Given the description of an element on the screen output the (x, y) to click on. 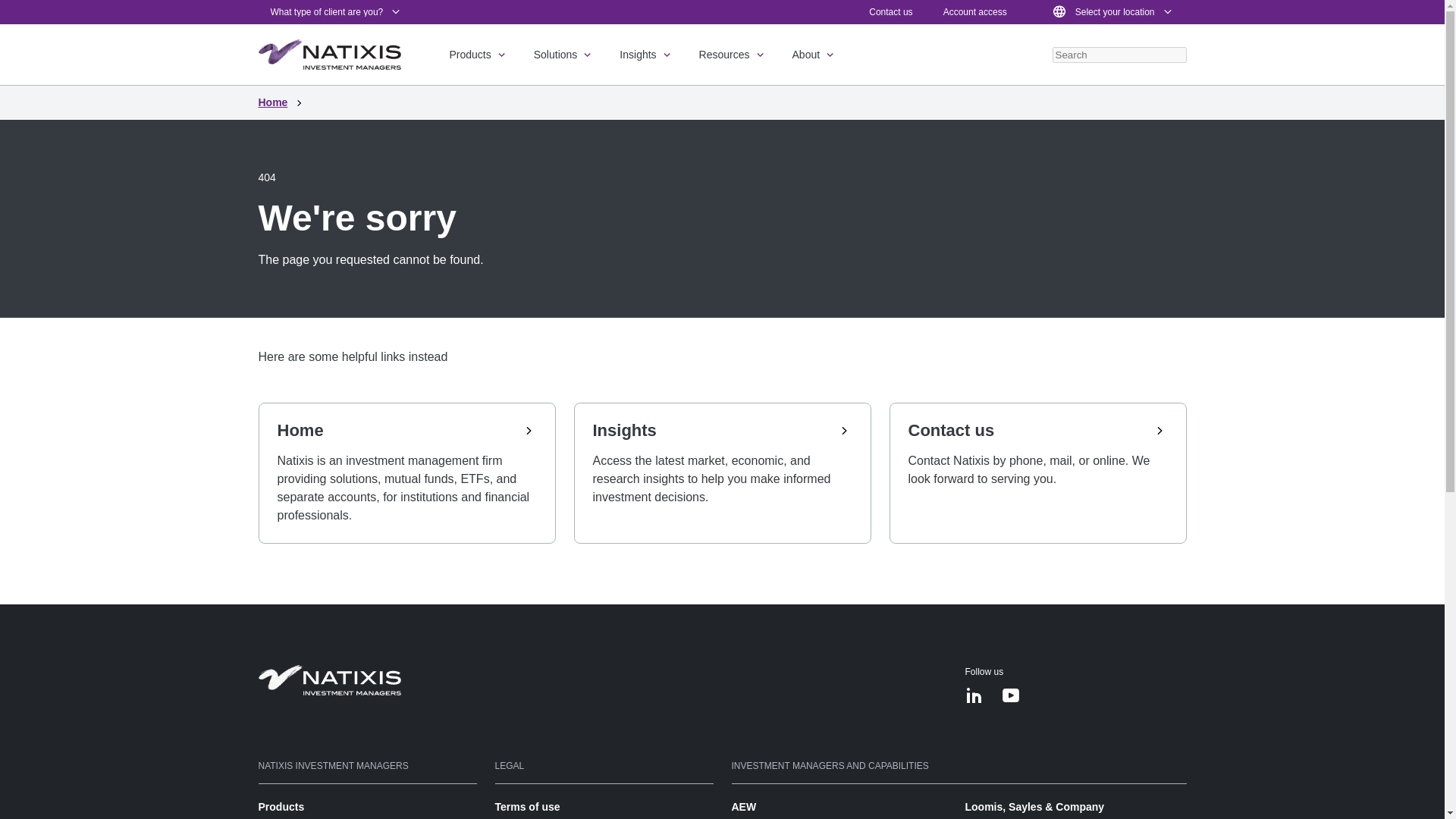
Contact us (890, 11)
Select your location (1111, 12)
Products (478, 54)
About (815, 54)
Solutions (564, 54)
Resources (733, 54)
Account access (975, 11)
What type of client are you? (335, 12)
Insights (647, 54)
